Given the description of an element on the screen output the (x, y) to click on. 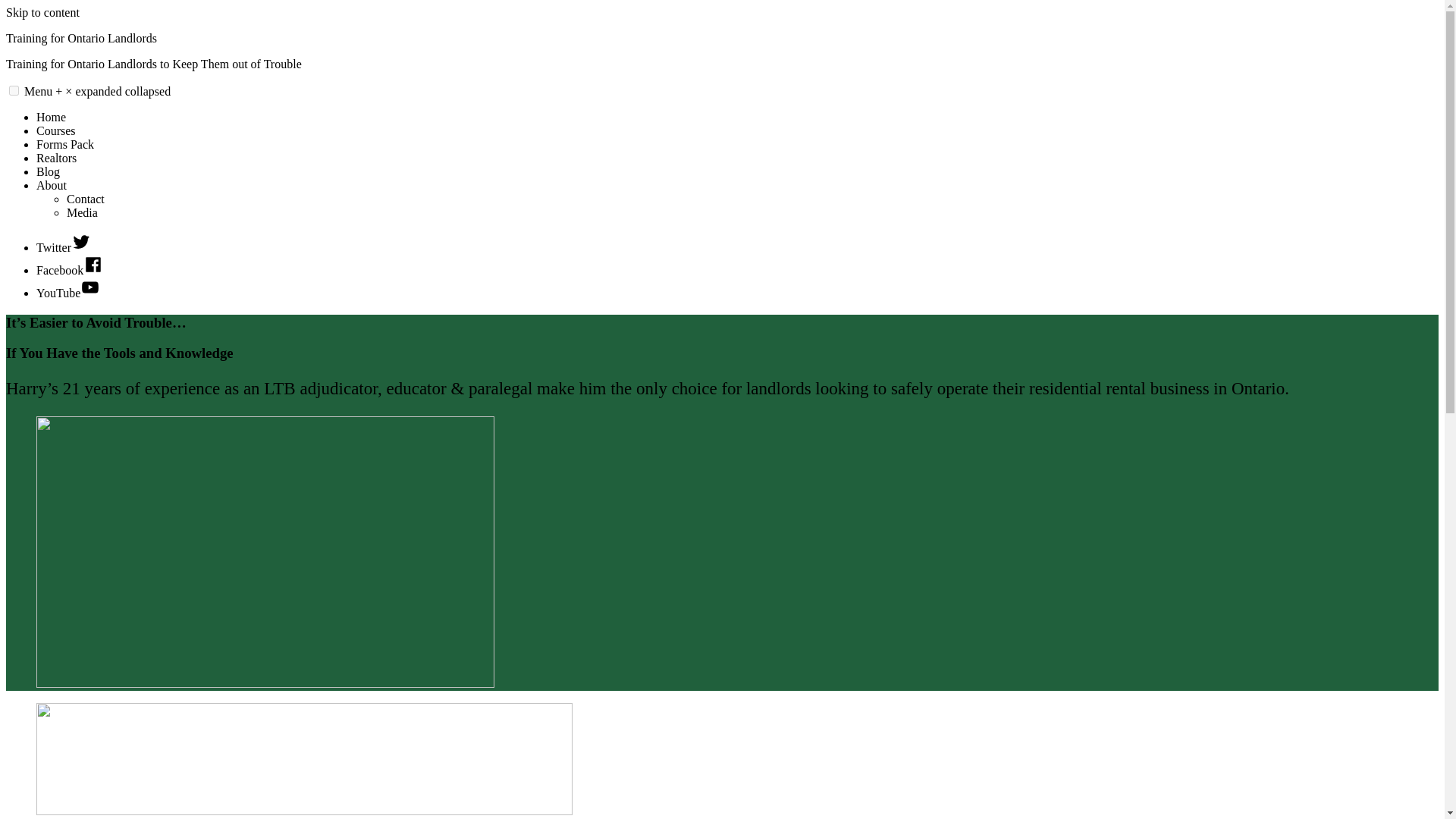
Facebook (69, 269)
Realtors (56, 157)
Forms Pack (65, 144)
Skip to content (42, 11)
Courses (55, 130)
Media (81, 212)
Training for Ontario Landlords (81, 38)
Twitter (63, 246)
Contact (85, 198)
Home (50, 116)
